Given the description of an element on the screen output the (x, y) to click on. 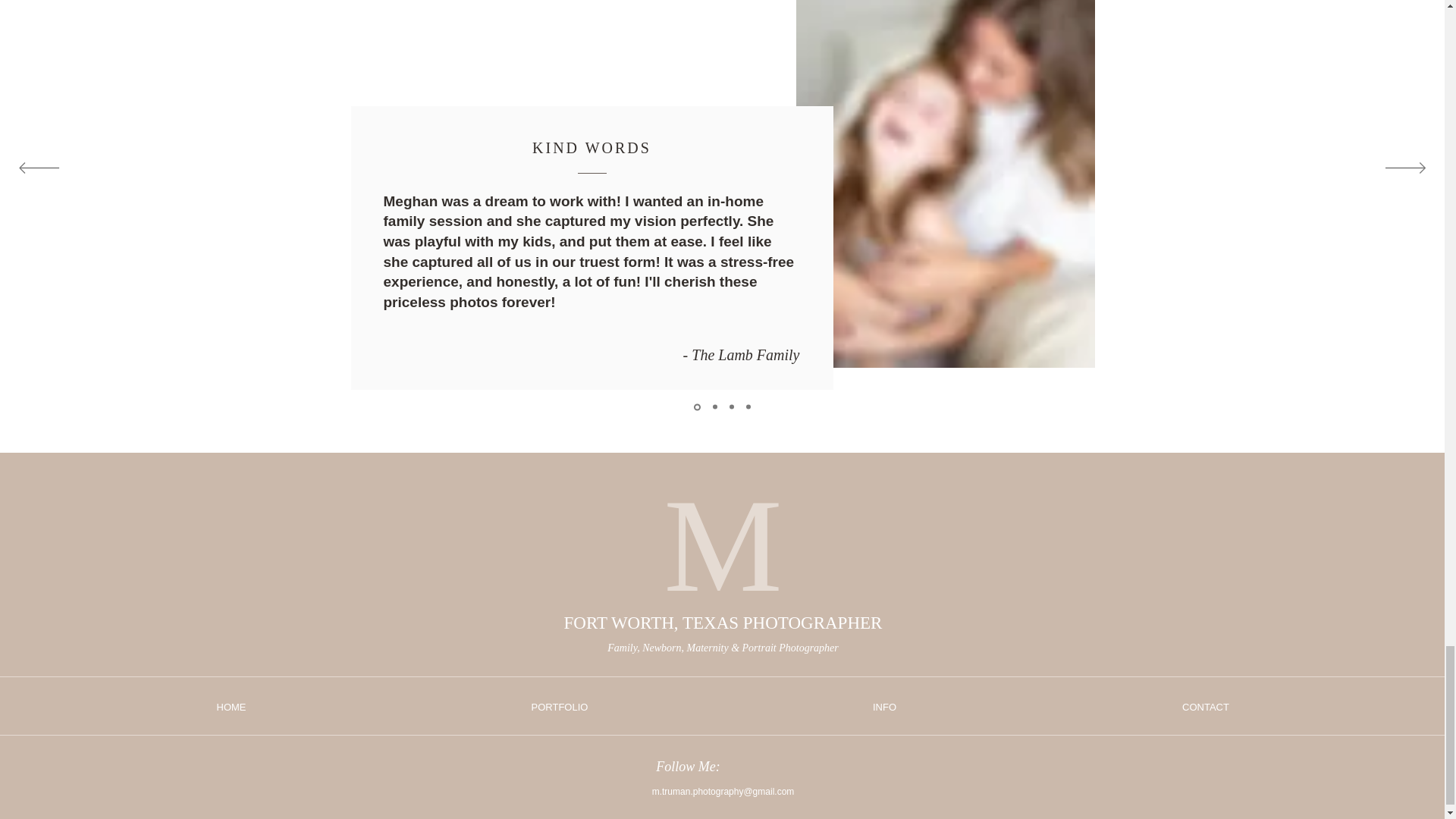
INFO (884, 707)
PORTFOLIO (559, 707)
HOME (231, 707)
CONTACT (1205, 707)
